Given the description of an element on the screen output the (x, y) to click on. 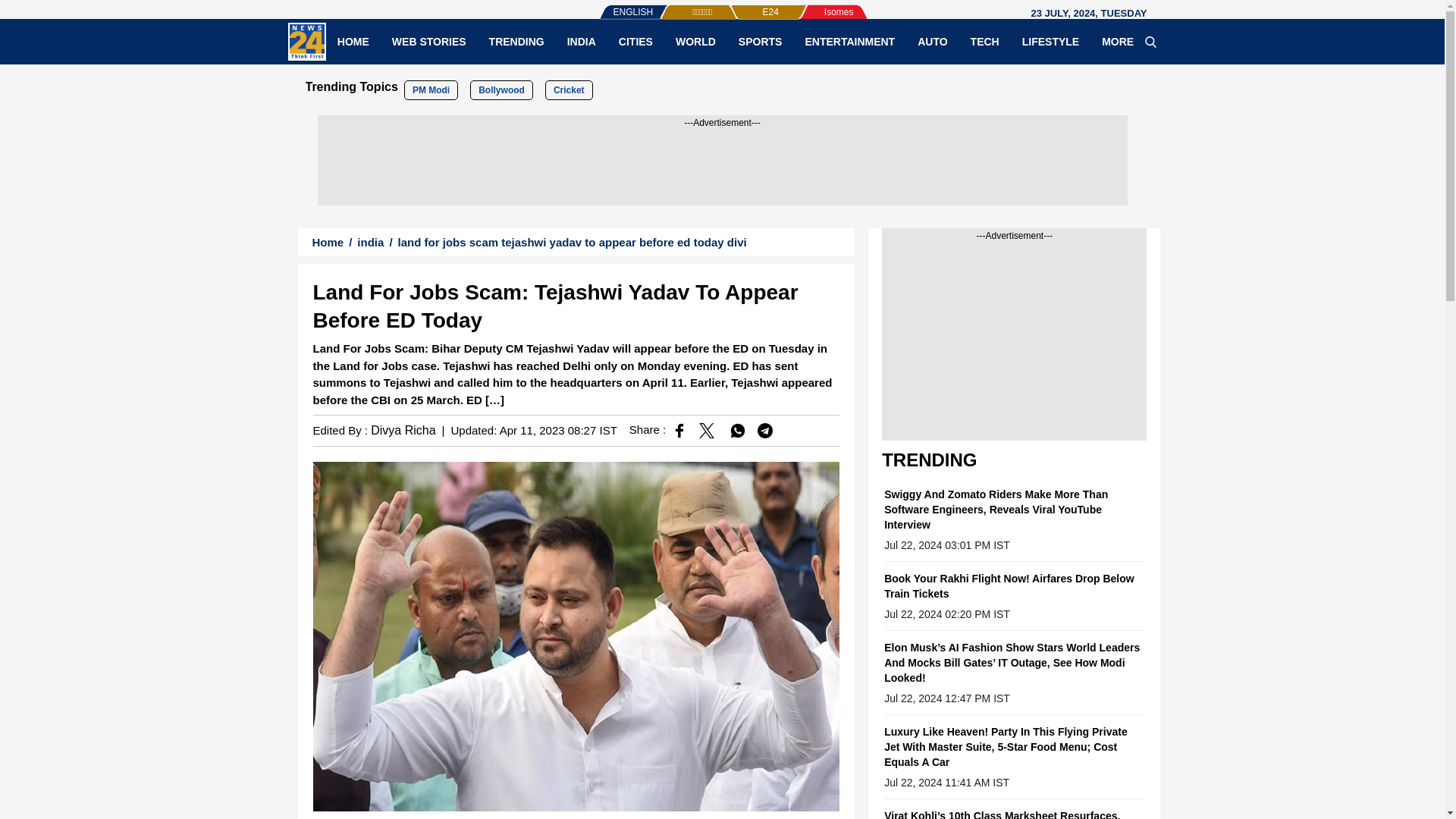
WEB STORIES (428, 41)
TECH (984, 41)
SPORTS (759, 41)
Isomes (814, 4)
CITIES (635, 41)
LIFESTYLE (1050, 41)
INDIA (581, 41)
WORLD (694, 41)
E24 (744, 4)
ENTERTAINMENT (849, 41)
AUTO (931, 41)
ENGLISH (601, 4)
TRENDING (516, 41)
HOME (353, 41)
